Given the description of an element on the screen output the (x, y) to click on. 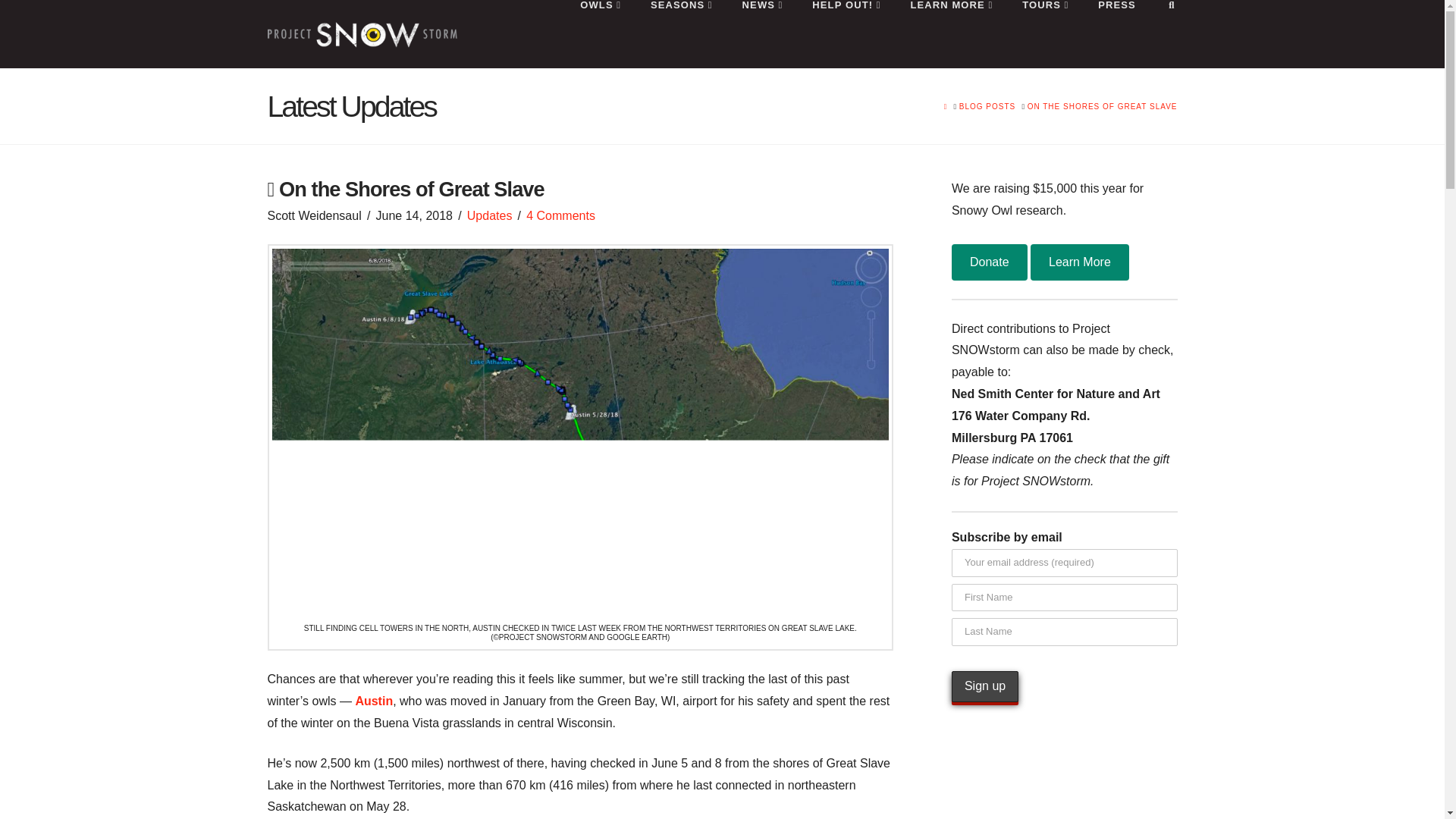
OWLS (599, 33)
Sign up (984, 685)
SEASONS (680, 33)
PRESS (1116, 33)
TOURS (1045, 33)
NEWS (761, 33)
LEARN MORE (951, 33)
HELP OUT! (845, 33)
You Are Here (1102, 106)
